Given the description of an element on the screen output the (x, y) to click on. 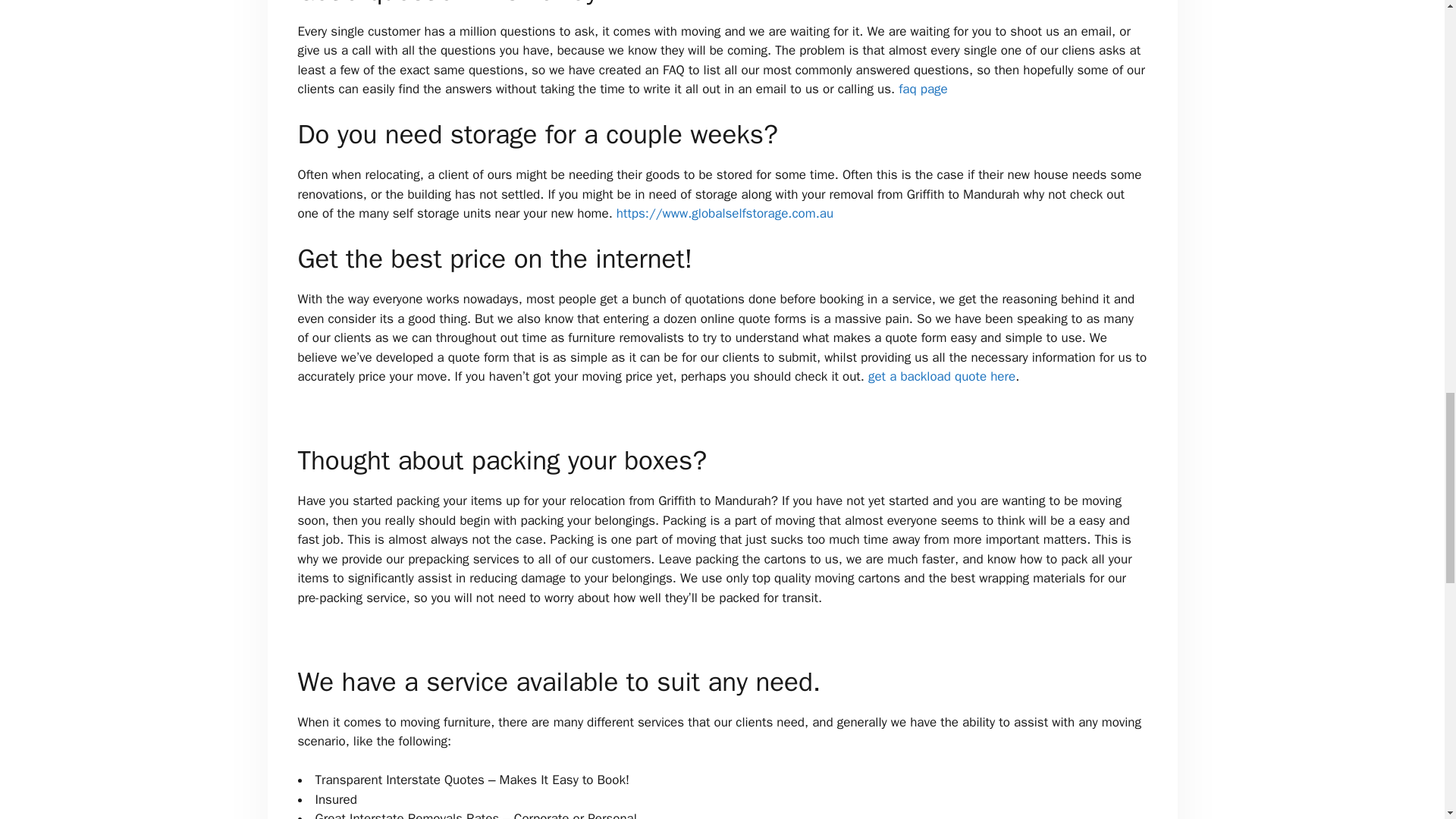
Self Storage (723, 213)
get a backload quote here (940, 376)
faq page (922, 89)
